Given the description of an element on the screen output the (x, y) to click on. 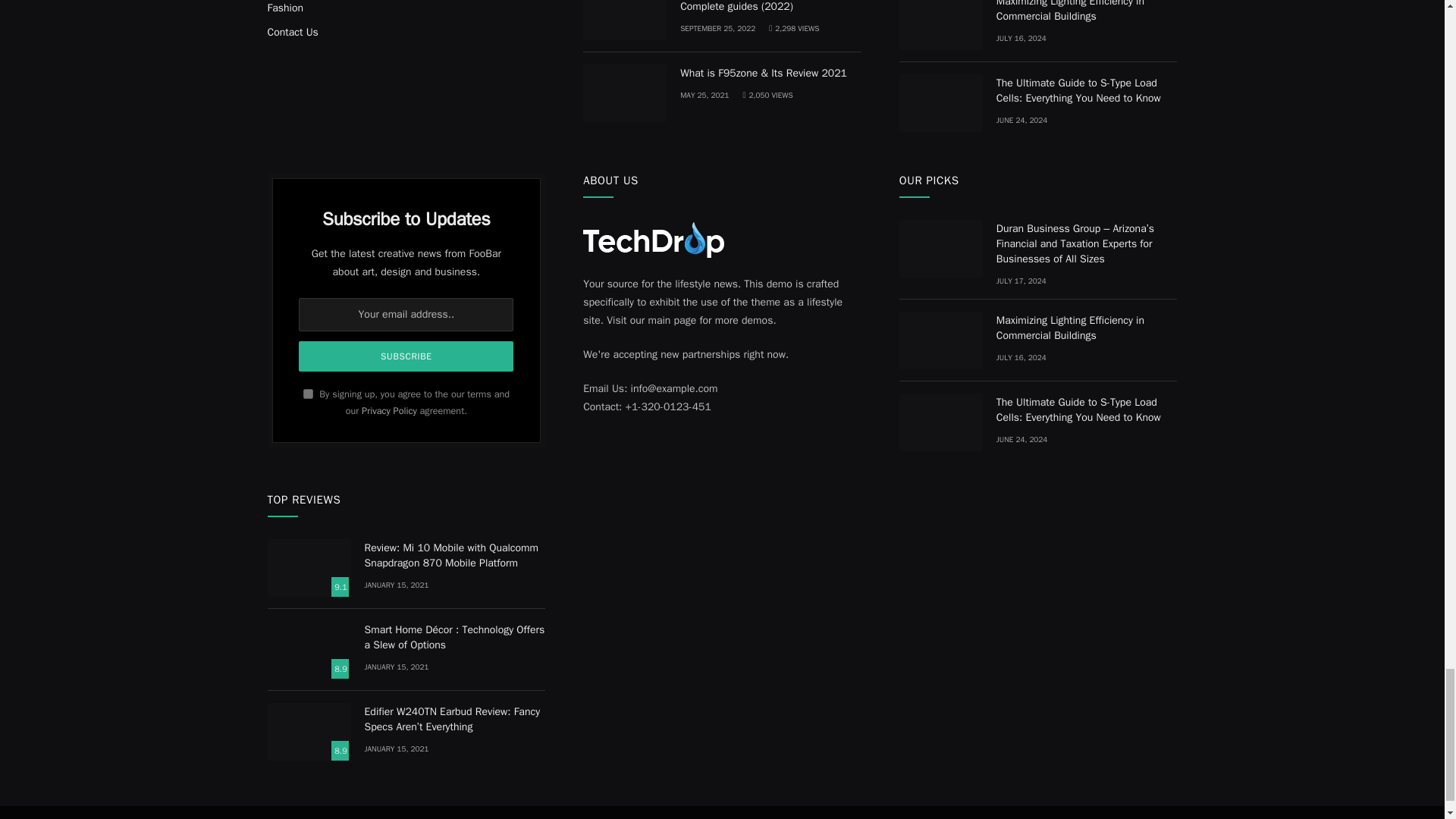
Subscribe (405, 356)
on (307, 393)
